Given the description of an element on the screen output the (x, y) to click on. 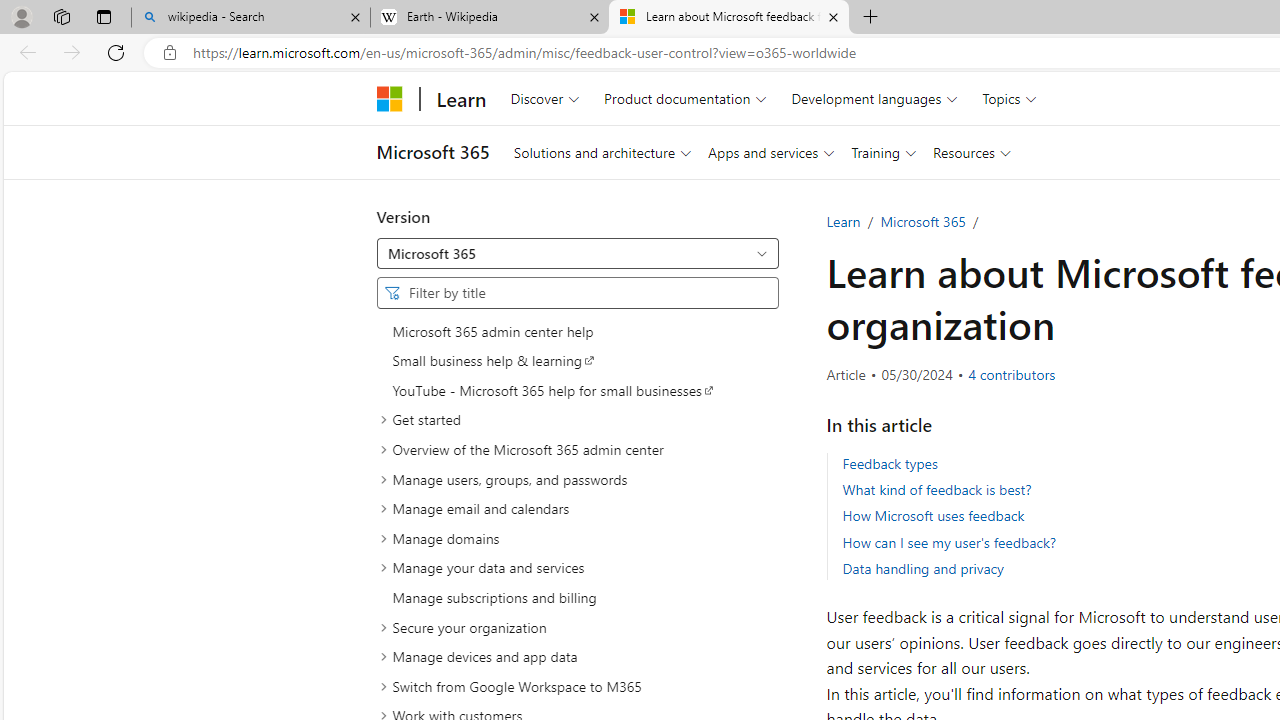
Tab actions menu (104, 16)
Solutions and architecture (602, 152)
Training (884, 152)
View all contributors (1011, 374)
Back (24, 52)
Feedback types (890, 462)
wikipedia - Search (250, 17)
Microsoft (389, 98)
What kind of feedback is best? (936, 489)
Development languages (874, 98)
Apps and services (770, 152)
Earth - Wikipedia (490, 17)
